Given the description of an element on the screen output the (x, y) to click on. 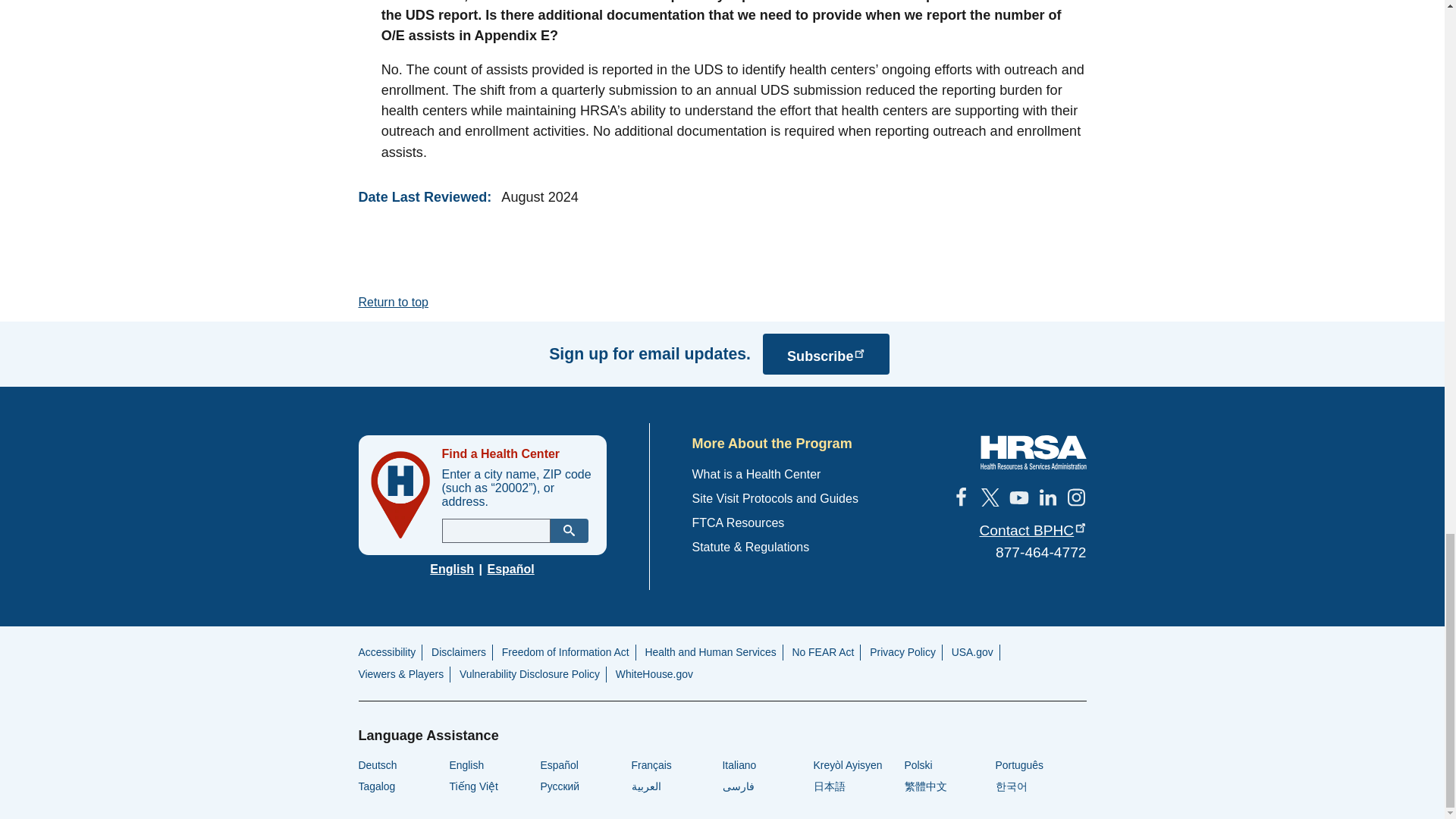
Site Visit Protocols and Guides (774, 498)
English (452, 569)
HRSA Health Resources and Services Administration (1032, 451)
Submit (569, 530)
What is a Health Center (756, 473)
Instagram (1075, 496)
FTCA Resources (737, 522)
What is a Health Center (756, 473)
Facebook (960, 496)
YouTube (1018, 496)
